Given the description of an element on the screen output the (x, y) to click on. 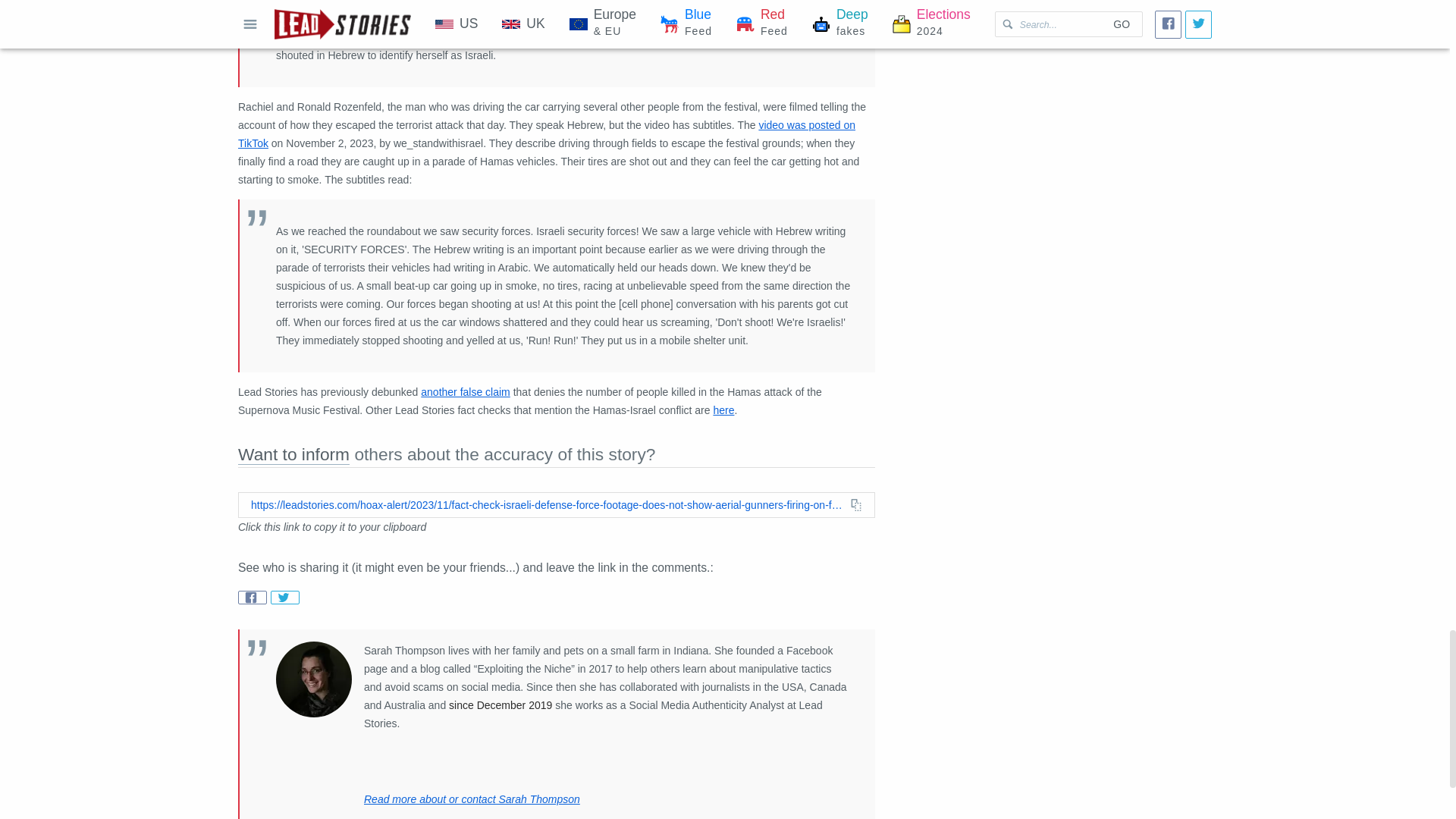
another false claim (465, 391)
here (723, 410)
video was posted on TikTok (547, 133)
